Given the description of an element on the screen output the (x, y) to click on. 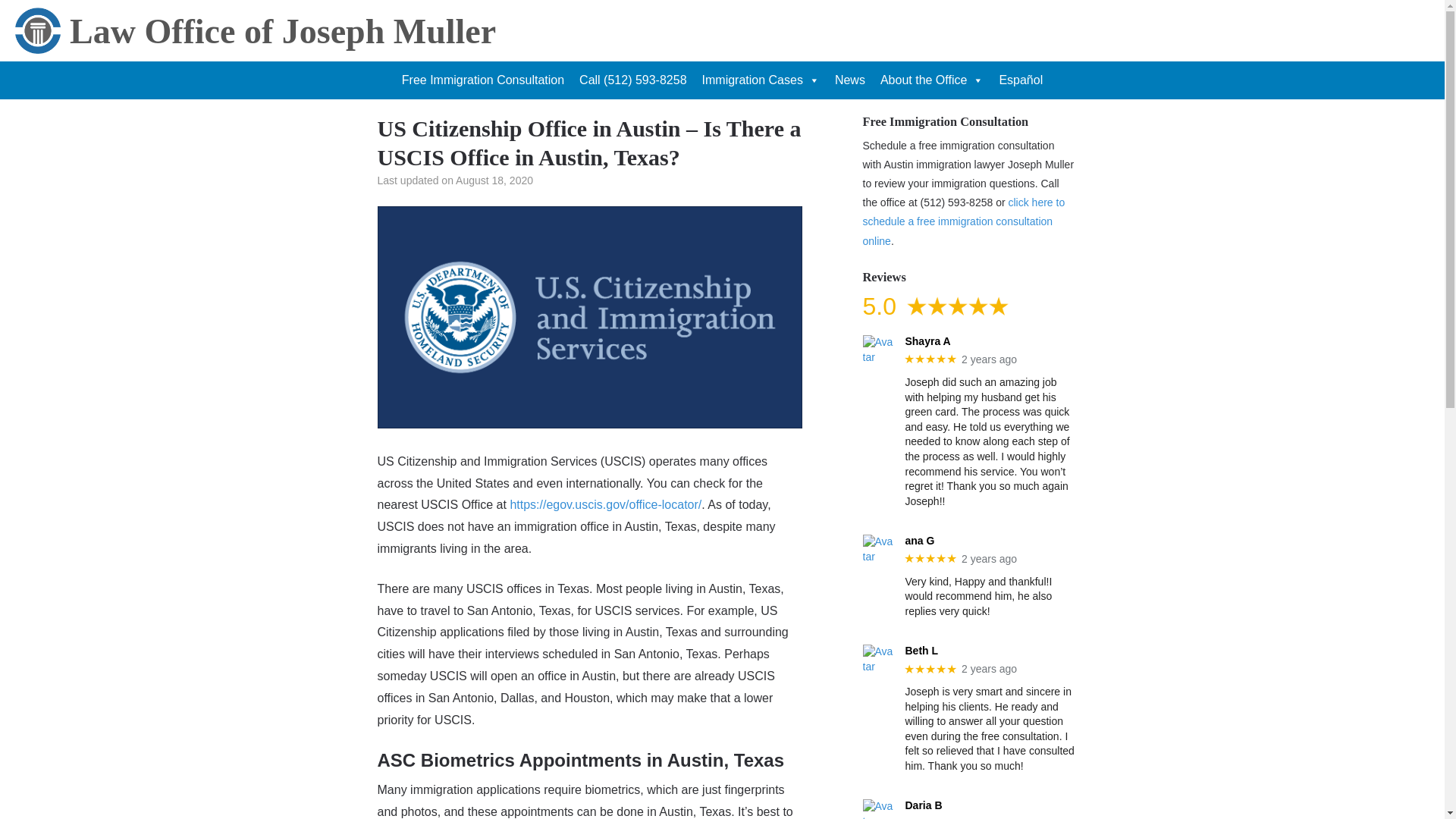
News (849, 80)
Law Office of Joseph Muller (282, 31)
Beth L (989, 650)
Immigration Cases (760, 80)
About the Office (931, 80)
Shayra A (989, 341)
Free Immigration Consultation (483, 80)
ana G (989, 540)
